Given the description of an element on the screen output the (x, y) to click on. 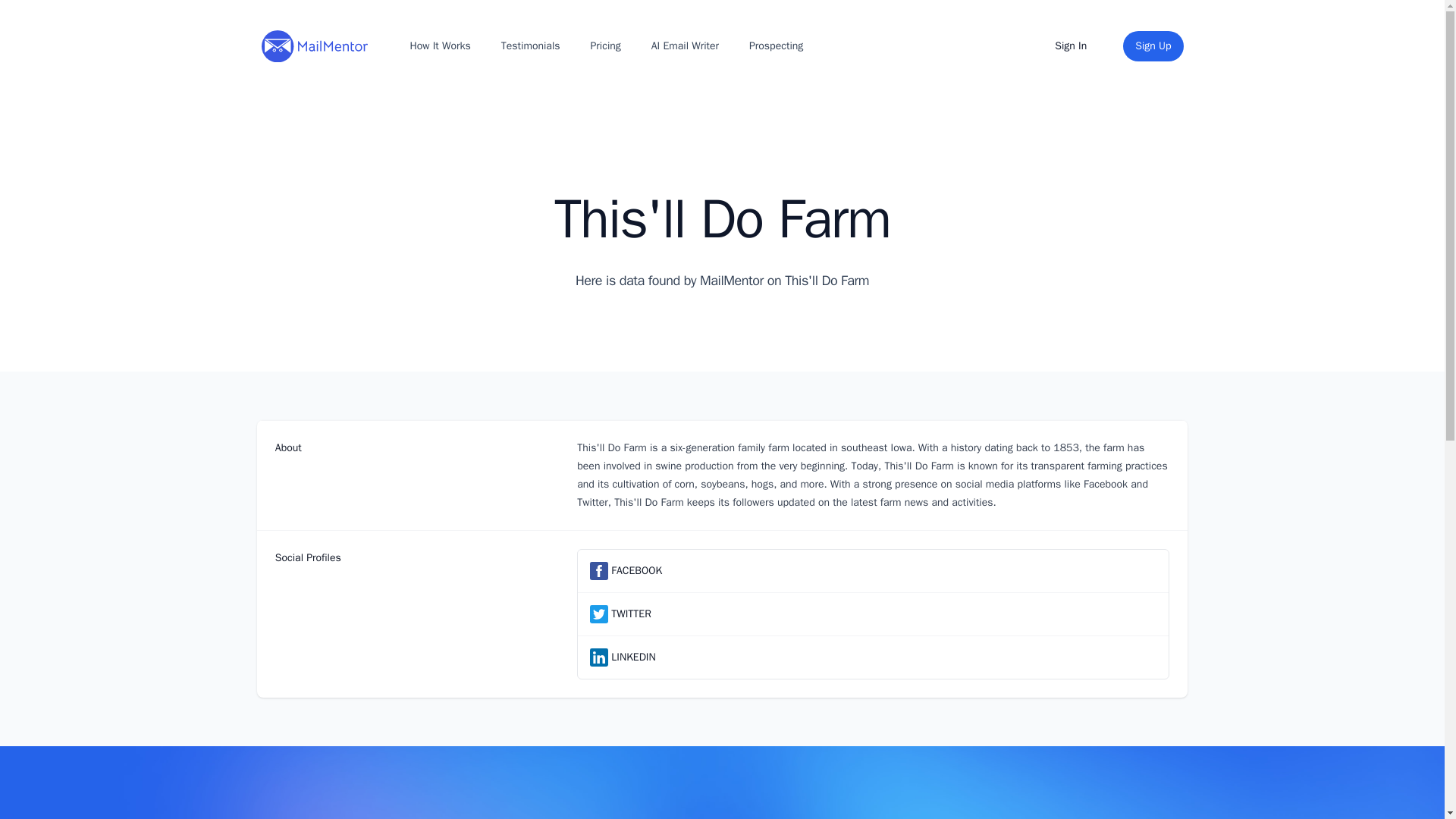
Sign Up (1152, 46)
TWITTER (630, 614)
linkedin (598, 657)
facebook (598, 570)
Sign In (1070, 46)
How It Works (439, 46)
AI Email Writer (685, 46)
LINKEDIN (633, 657)
Prospecting (775, 46)
FACEBOOK (636, 570)
